Given the description of an element on the screen output the (x, y) to click on. 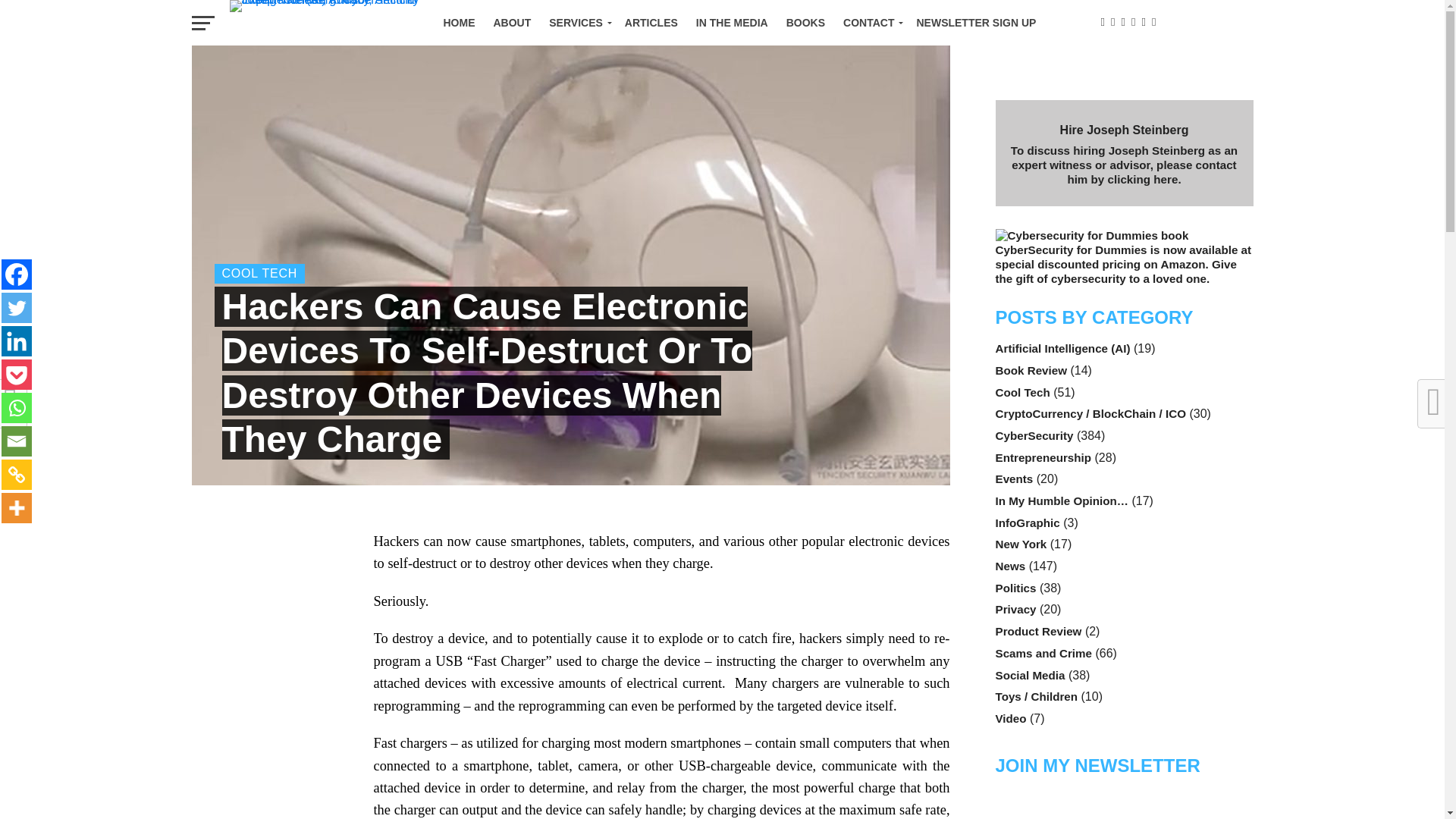
HOME (458, 22)
Pocket (16, 374)
Linkedin (16, 340)
Twitter (16, 307)
ABOUT (511, 22)
IN THE MEDIA (732, 22)
SERVICES (577, 22)
Facebook (16, 274)
ARTICLES (651, 22)
